Given the description of an element on the screen output the (x, y) to click on. 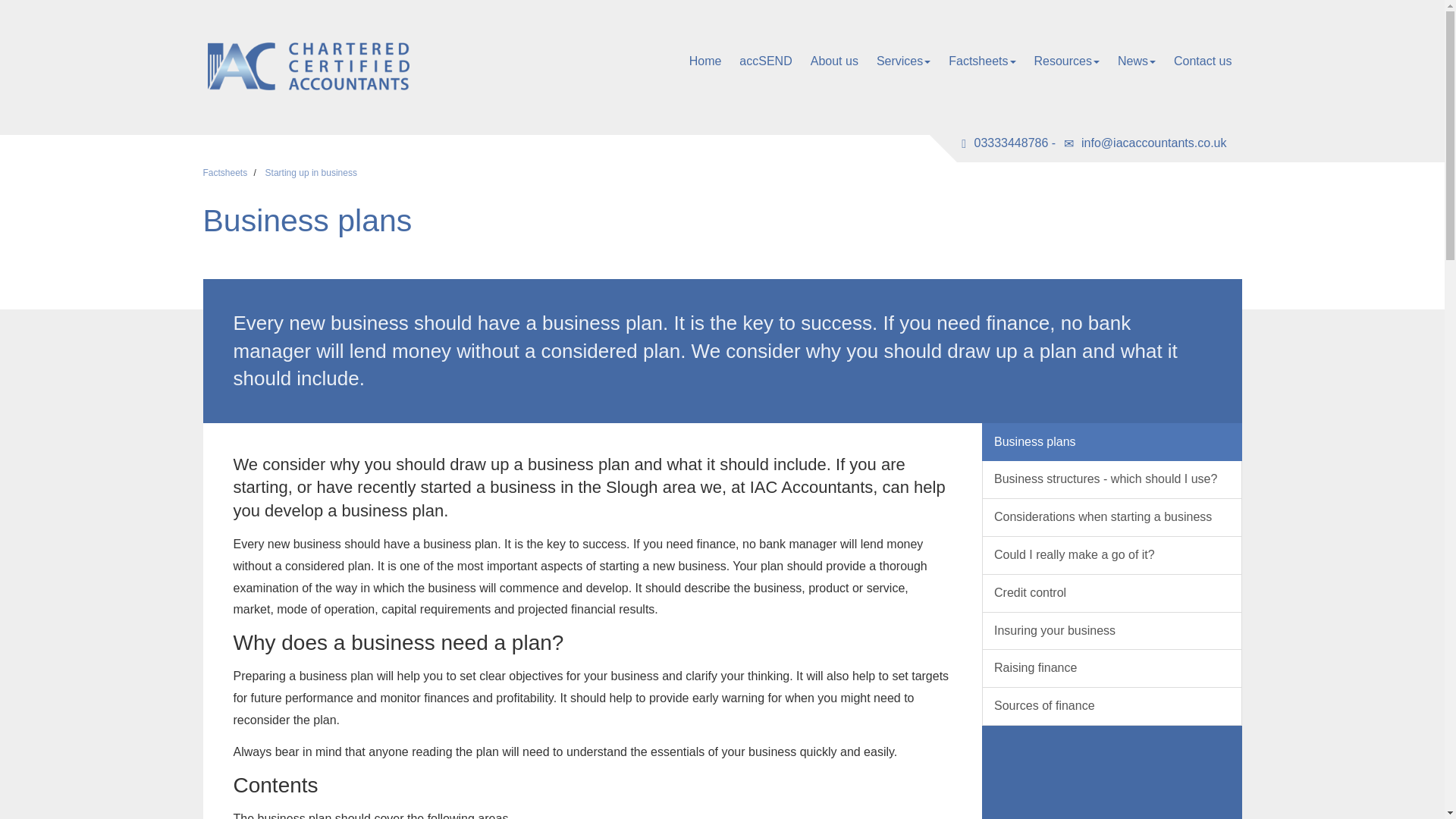
Resources (1066, 61)
Factsheets (982, 61)
accSEND (765, 61)
Home (704, 61)
Home (704, 61)
accSEND (765, 61)
Services (903, 61)
Services (903, 61)
News (1136, 61)
About us (834, 61)
About us (834, 61)
IAC Accountants - Accountants in Slough (368, 66)
Factsheets (982, 61)
